Given the description of an element on the screen output the (x, y) to click on. 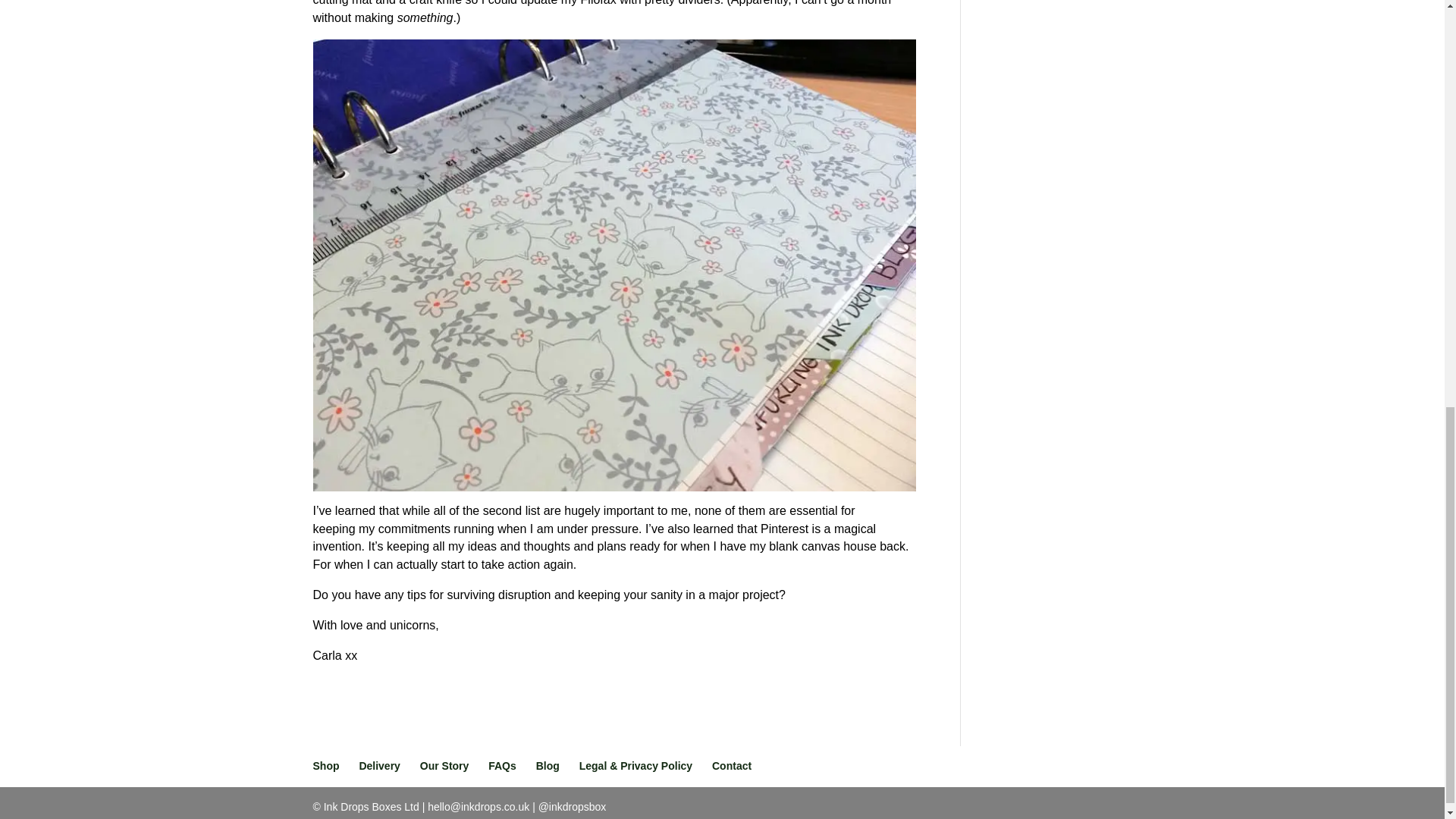
Contact (731, 766)
FAQs (501, 766)
Blog (547, 766)
Shop (326, 766)
Delivery (378, 766)
Our Story (444, 766)
